Given the description of an element on the screen output the (x, y) to click on. 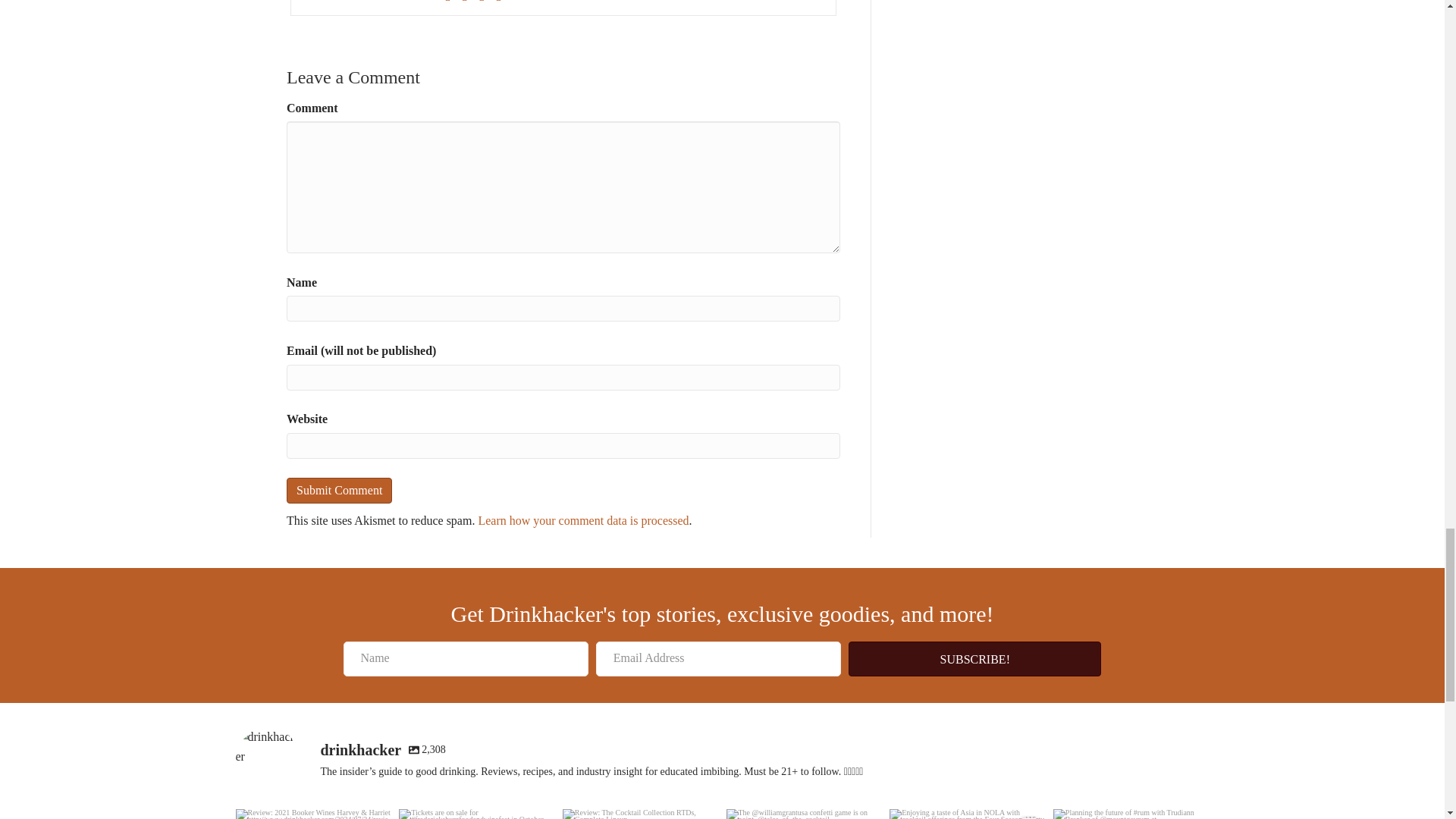
Submit Comment (338, 489)
